Given the description of an element on the screen output the (x, y) to click on. 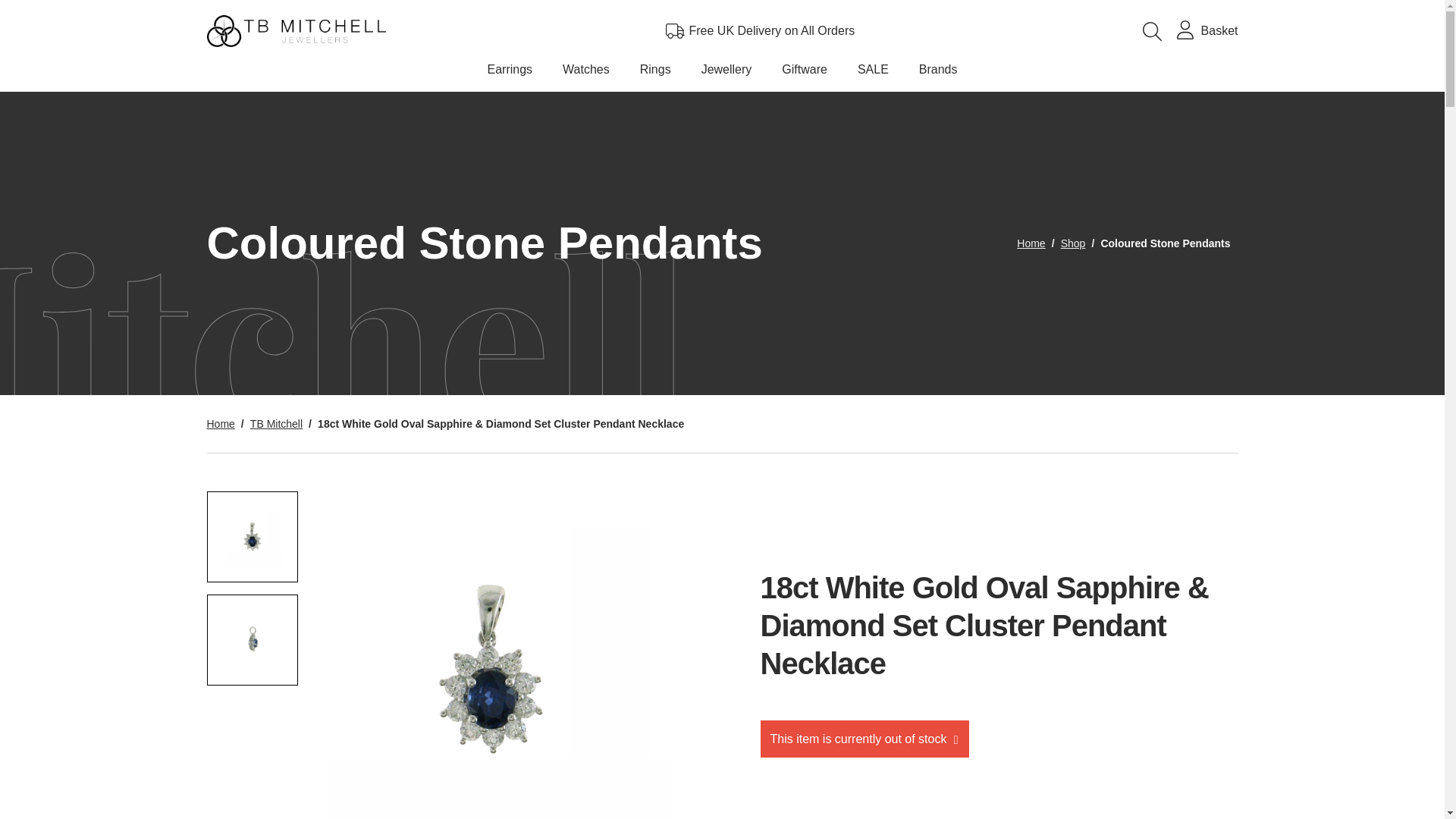
Brands (938, 72)
Rings (654, 72)
Home (1030, 243)
Watches (585, 72)
Earrings (509, 72)
SALE (873, 72)
Home (220, 423)
Giftware (805, 72)
Jewellery (726, 72)
Jewellery (726, 72)
Shop (1073, 243)
Giftware (805, 72)
Rings (654, 72)
Watches (585, 72)
SALE (873, 72)
